Given the description of an element on the screen output the (x, y) to click on. 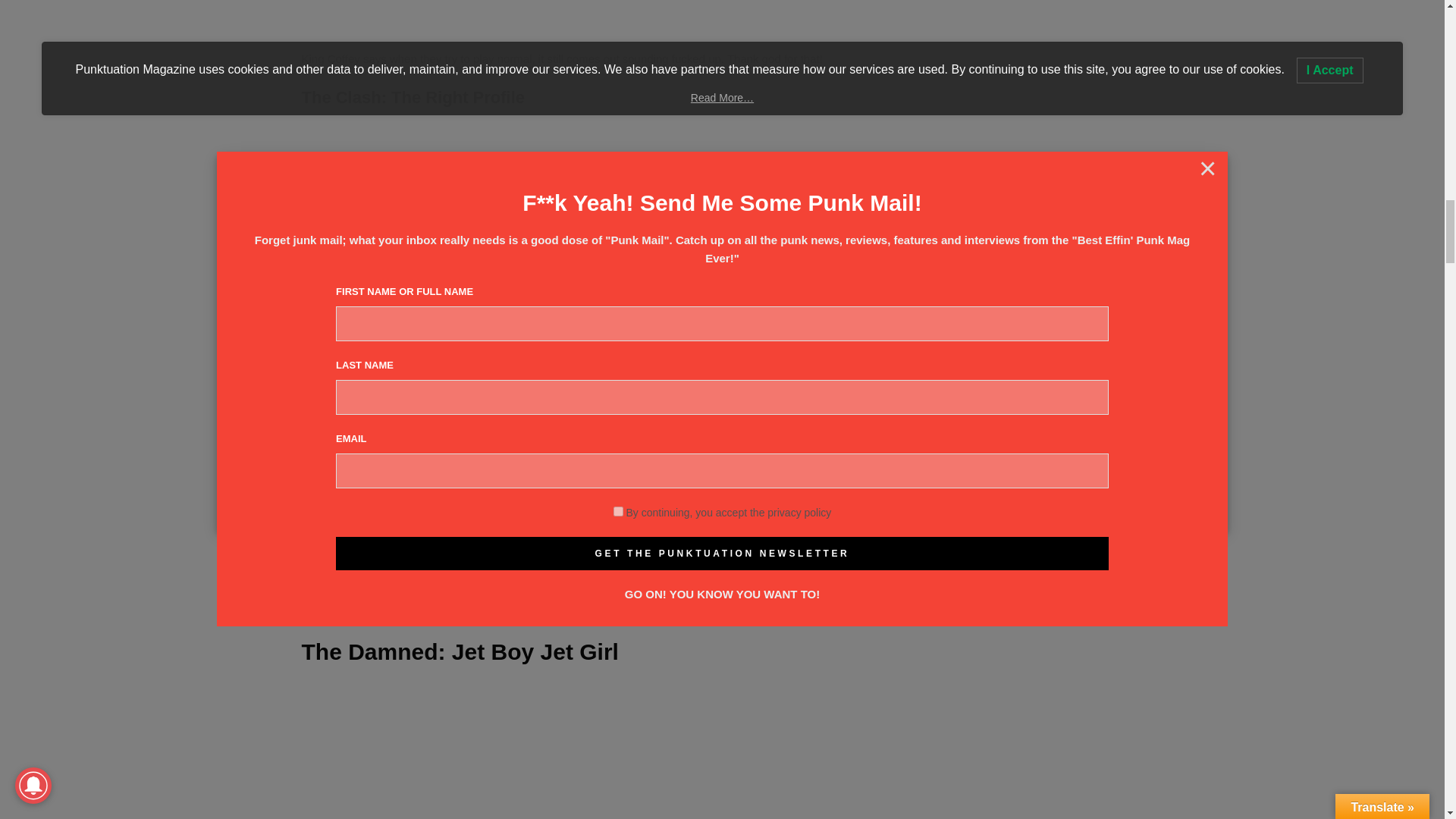
Stonewall riots (427, 587)
